Given the description of an element on the screen output the (x, y) to click on. 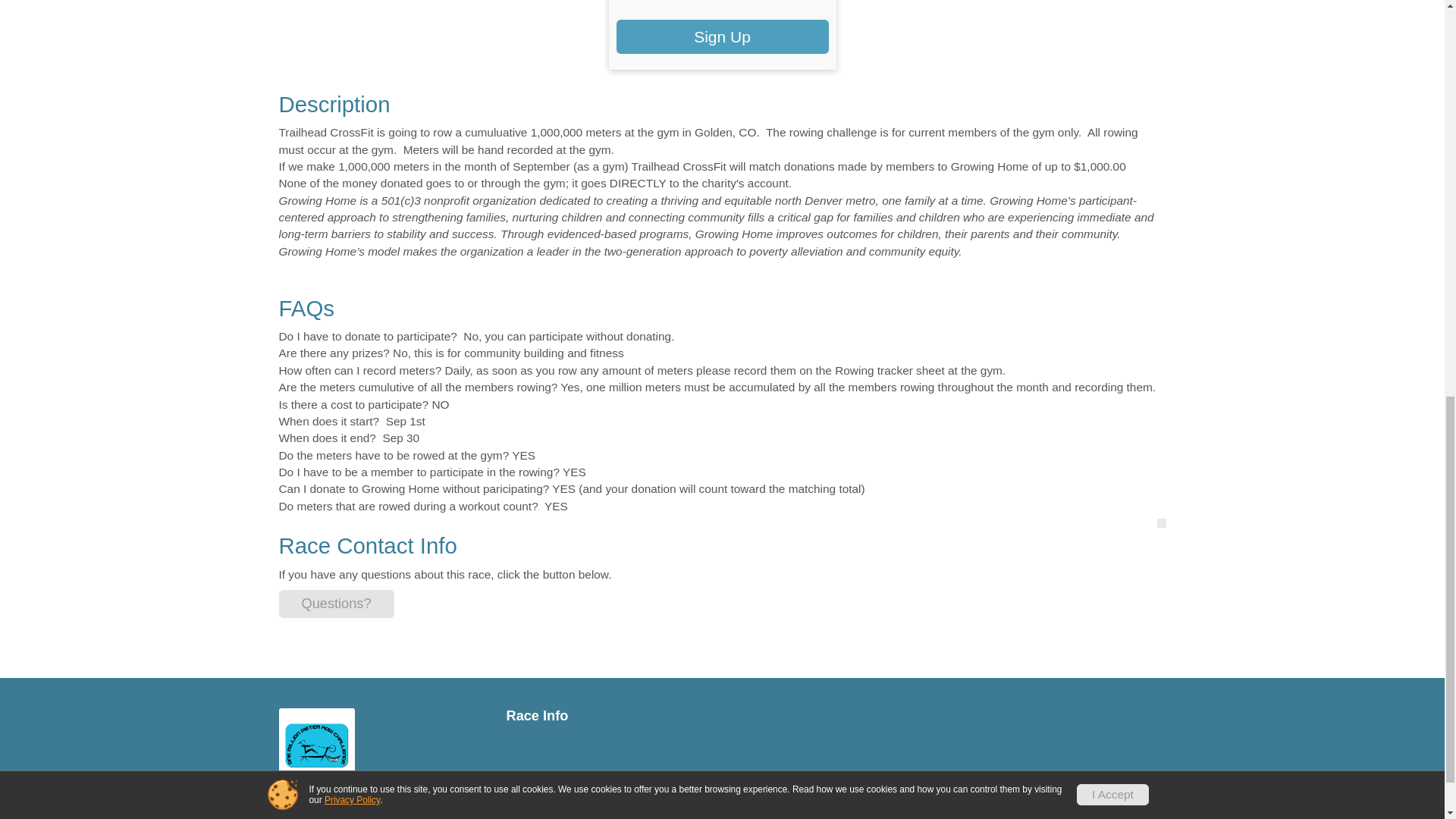
Sign Up (721, 36)
Race Info (608, 715)
Questions? (336, 603)
